Given the description of an element on the screen output the (x, y) to click on. 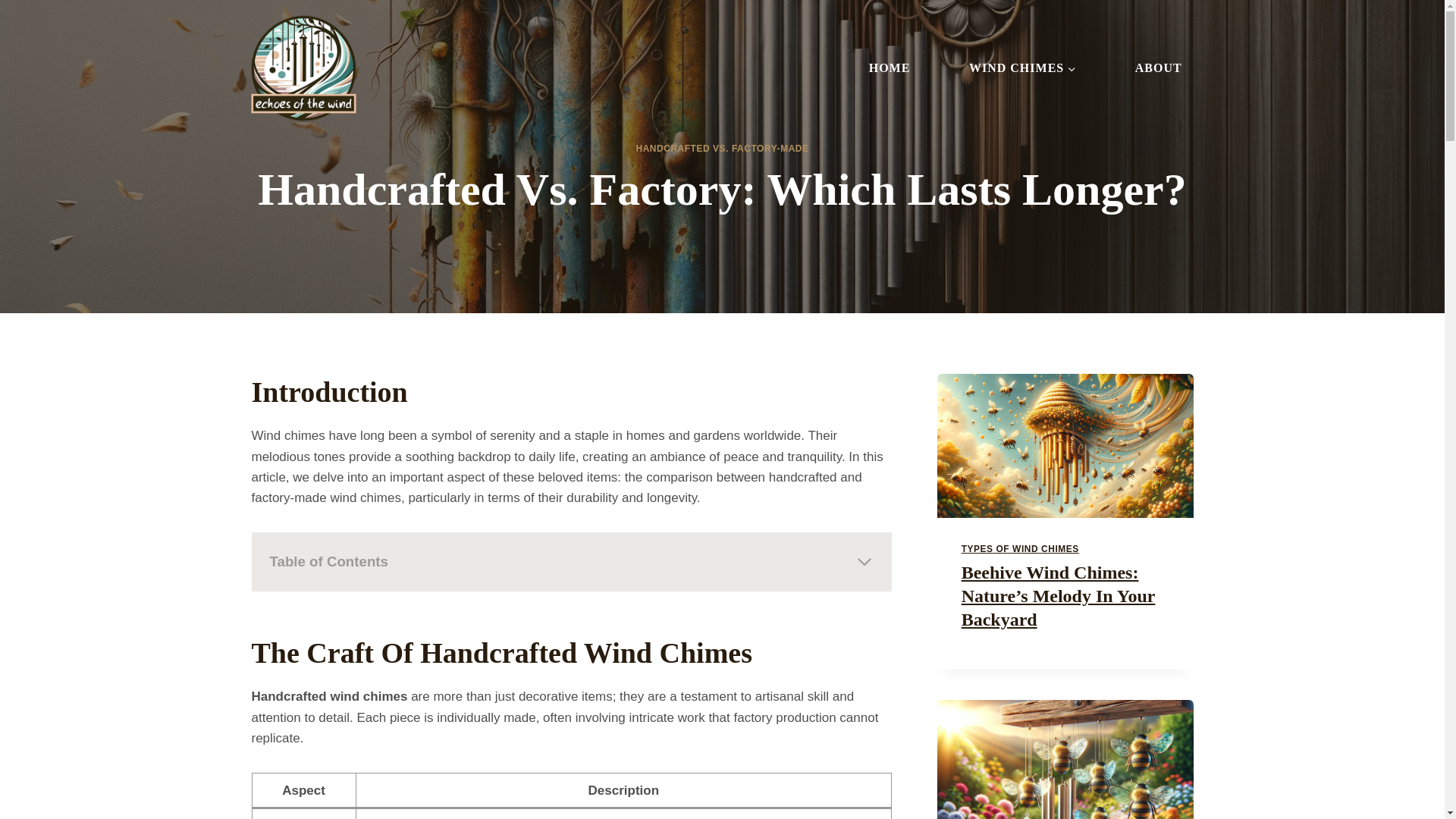
WIND CHIMES (1022, 68)
Table of Contents (572, 561)
HOME (889, 68)
HANDCRAFTED VS. FACTORY-MADE (721, 147)
ABOUT (1158, 68)
